Given the description of an element on the screen output the (x, y) to click on. 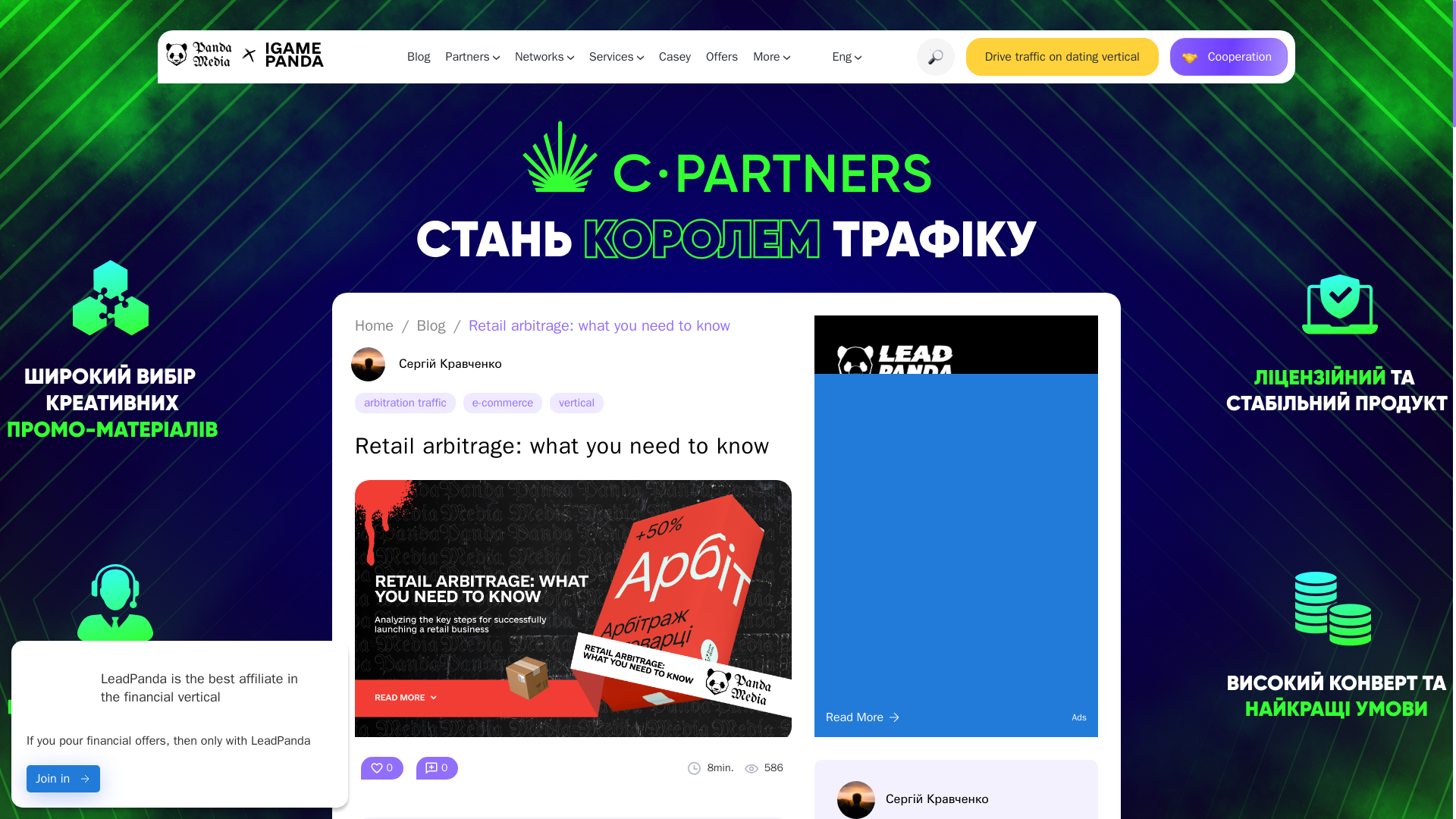
Blog (418, 56)
0 (437, 768)
Partners (472, 56)
Networks (544, 56)
Services (616, 56)
